Given the description of an element on the screen output the (x, y) to click on. 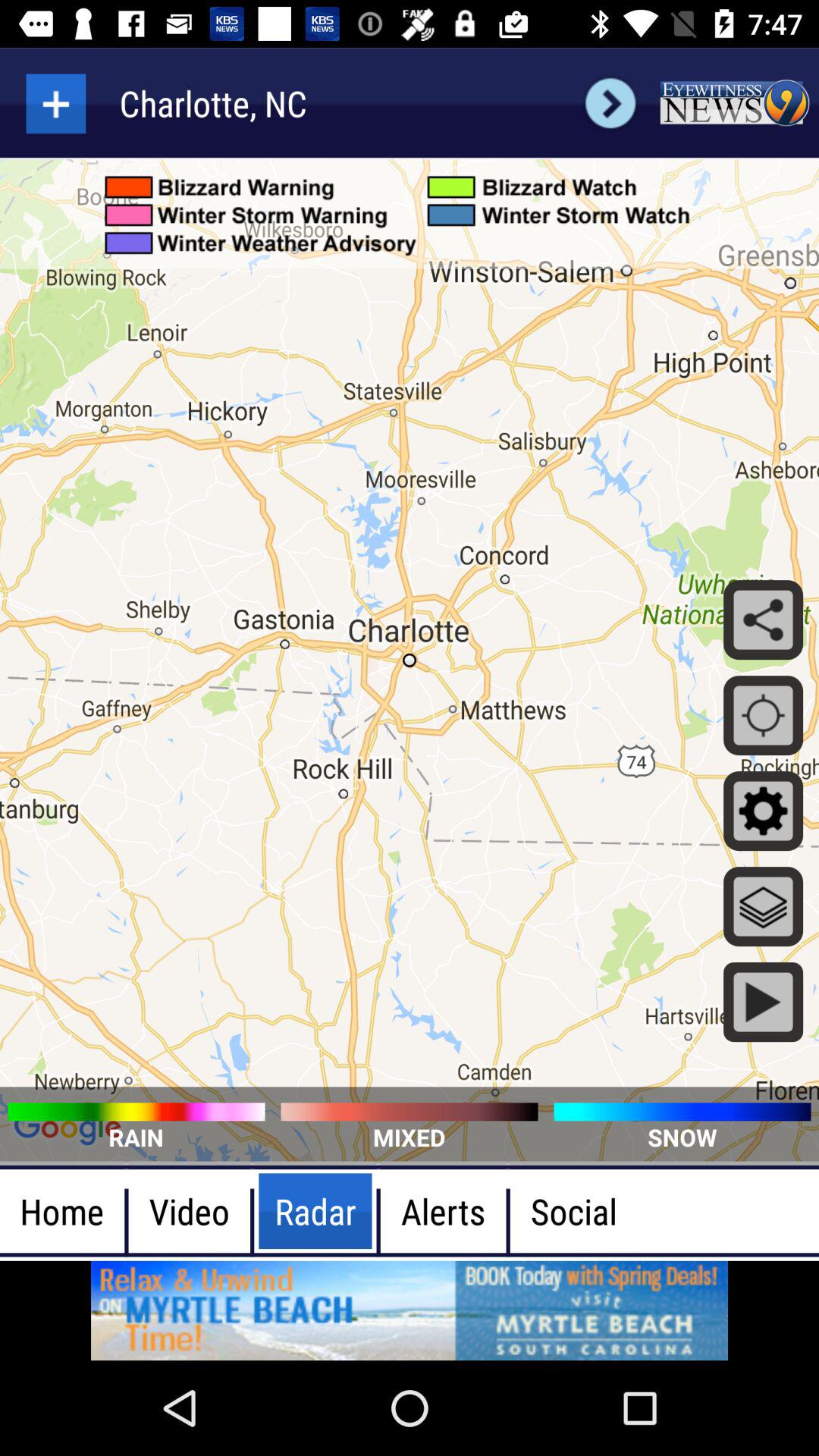
prximo (610, 103)
